Given the description of an element on the screen output the (x, y) to click on. 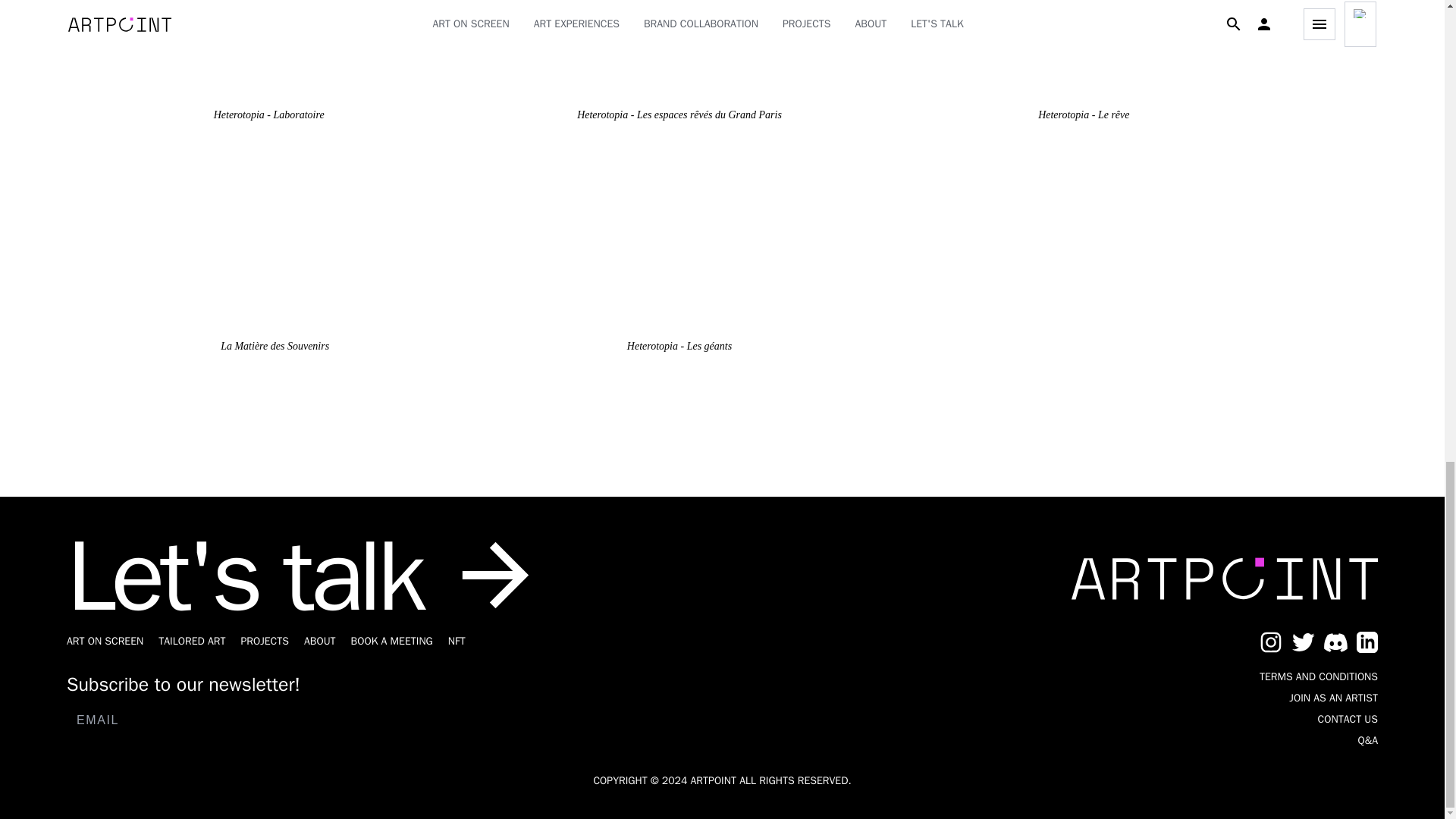
Heterotopia - Laboratoire (268, 69)
